Given the description of an element on the screen output the (x, y) to click on. 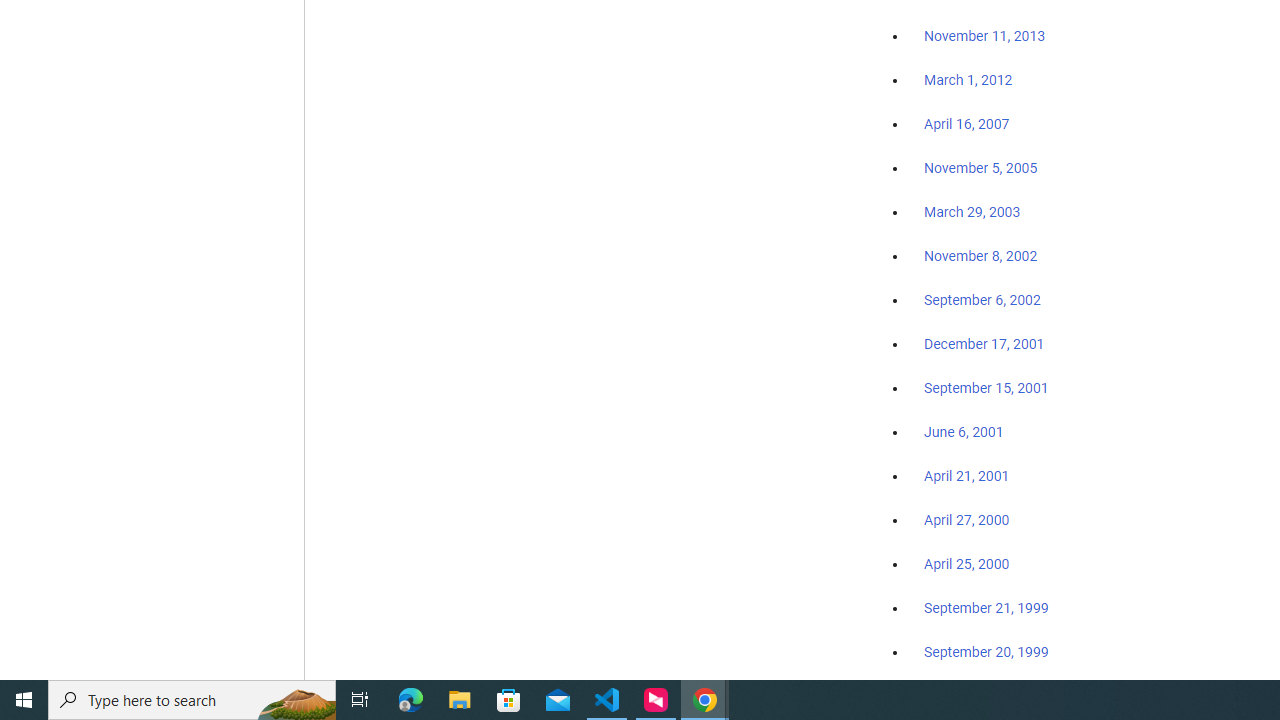
September 21, 1999 (986, 608)
November 8, 2002 (981, 255)
November 11, 2013 (984, 37)
April 25, 2000 (966, 564)
June 6, 2001 (963, 431)
April 27, 2000 (966, 520)
April 21, 2001 (966, 476)
November 5, 2005 (981, 168)
September 6, 2002 (982, 299)
April 16, 2007 (966, 124)
March 1, 2012 (968, 81)
March 29, 2003 (972, 212)
December 17, 2001 (984, 343)
September 20, 1999 (986, 651)
September 15, 2001 (986, 387)
